Given the description of an element on the screen output the (x, y) to click on. 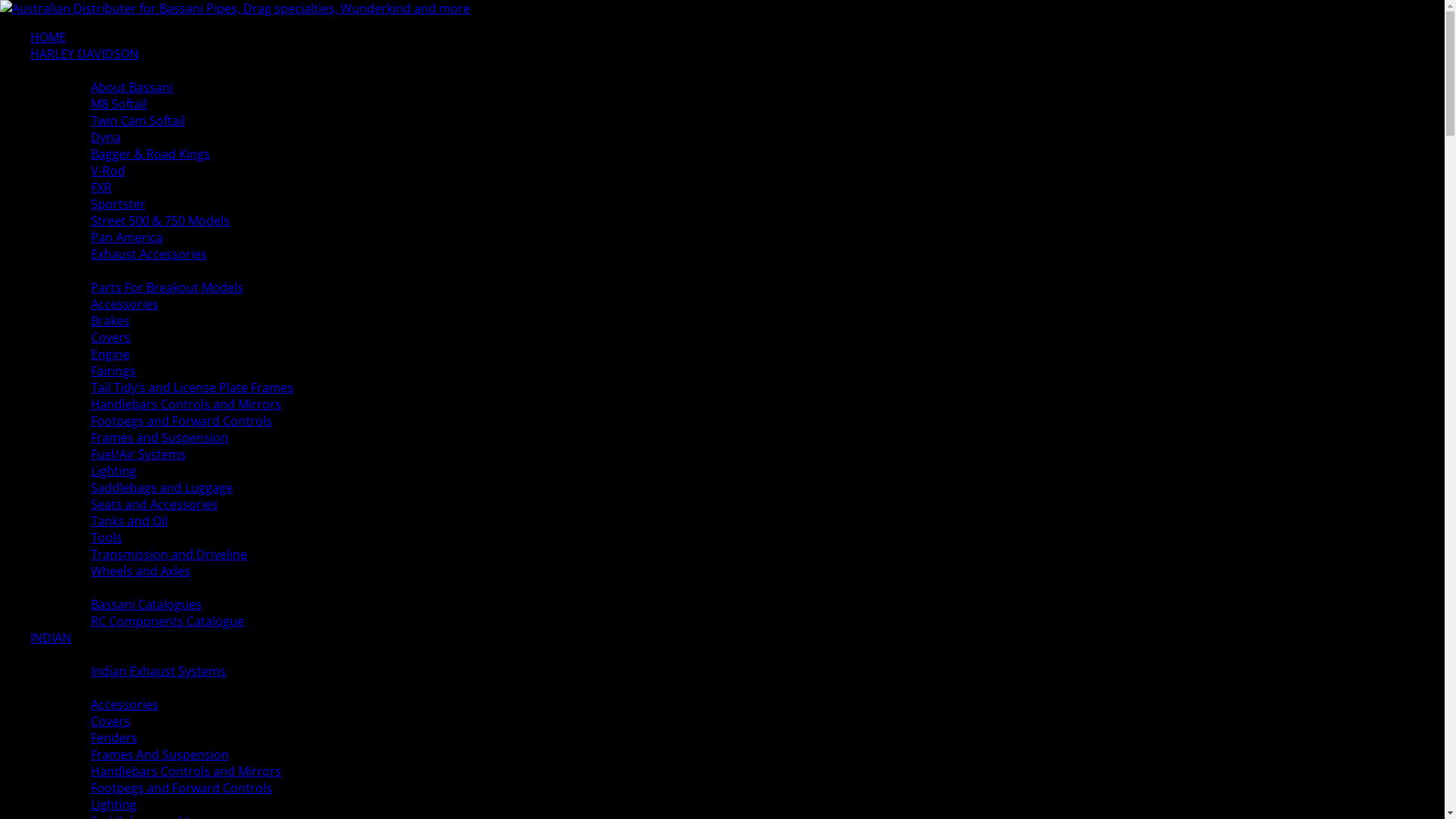
Frames And Suspension Element type: text (160, 754)
Fenders Element type: text (114, 737)
Sportster Element type: text (118, 203)
Bassani Catalogues Element type: text (146, 604)
RC Components Catalogue Element type: text (167, 620)
V-Rod Element type: text (108, 170)
Brakes Element type: text (110, 320)
Parts For Breakout Models Element type: text (167, 287)
M8 Softail Element type: text (119, 103)
KPR Industries Element type: hover (235, 8)
Frames and Suspension Element type: text (159, 437)
Covers Element type: text (110, 720)
Saddlebags and Luggage Element type: text (161, 487)
About Bassani Element type: text (131, 86)
Accessories Element type: text (124, 704)
Indian Exhaust Systems Element type: text (158, 670)
Seats and Accessories Element type: text (154, 503)
Tools Element type: text (106, 537)
FXR Element type: text (101, 186)
Lighting Element type: text (113, 804)
Handlebars Controls and Mirrors Element type: text (186, 403)
Covers Element type: text (110, 337)
Fairings Element type: text (113, 370)
Bagger & Road Kings Element type: text (150, 153)
Dyna Element type: text (105, 136)
INDIAN Element type: text (50, 637)
Accessories Element type: text (124, 303)
Exhaust Accessories Element type: text (149, 253)
Tanks and Oil Element type: text (129, 520)
HOME Element type: text (47, 36)
Lighting Element type: text (113, 470)
Engine Element type: text (110, 353)
Footpegs and Forward Controls Element type: text (181, 420)
Street 500 & 750 Models Element type: text (160, 220)
Footpegs and Forward Controls Element type: text (181, 787)
Handlebars Controls and Mirrors Element type: text (186, 770)
Pan America Element type: text (127, 237)
Wheels and Axles Element type: text (140, 570)
Fuel/Air Systems Element type: text (138, 453)
Twin Cam Softail Element type: text (138, 120)
HARLEY DAVIDSON Element type: text (84, 53)
Transmission and Driveline Element type: text (169, 554)
